Given the description of an element on the screen output the (x, y) to click on. 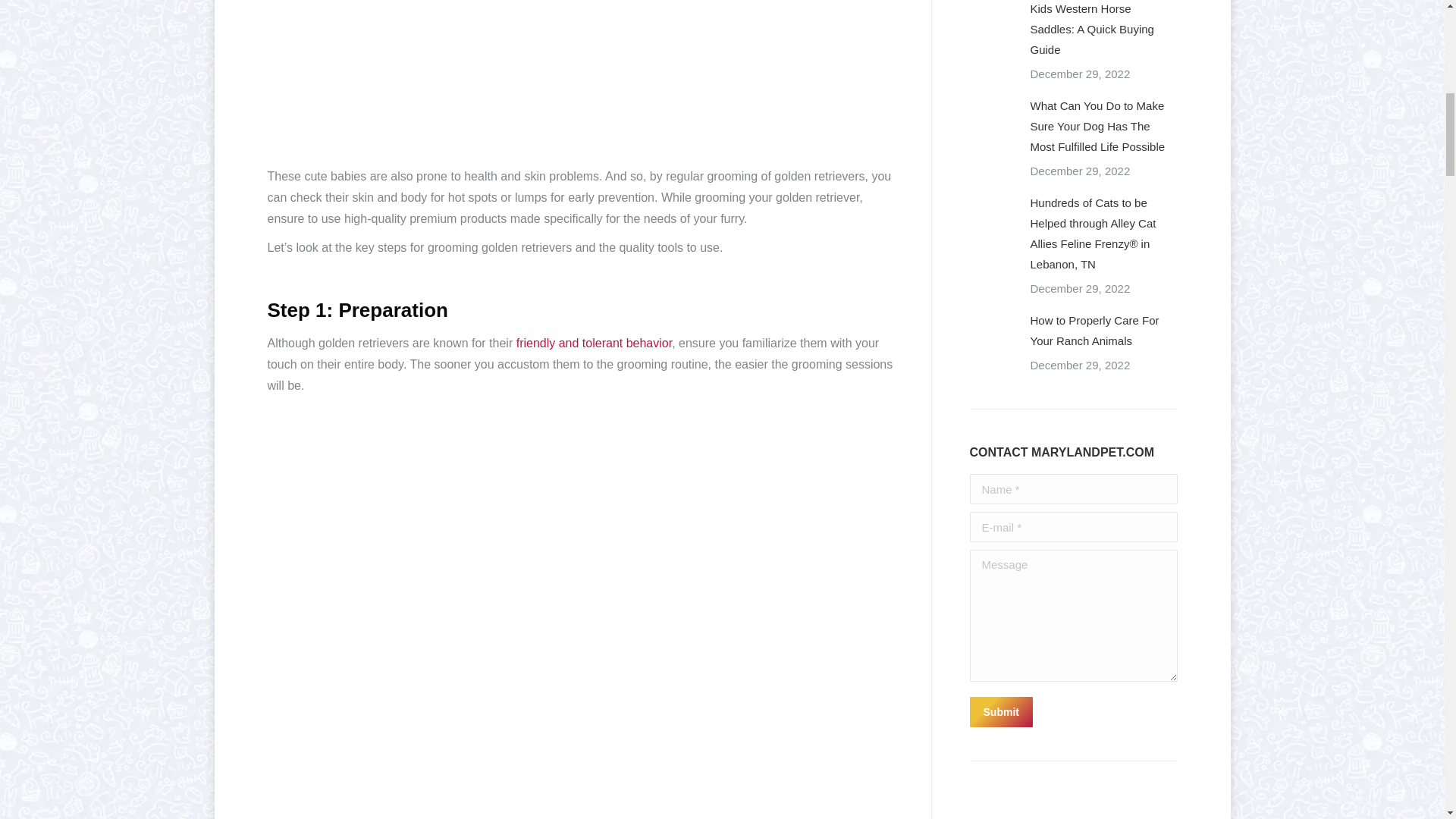
submit (1073, 713)
